Given the description of an element on the screen output the (x, y) to click on. 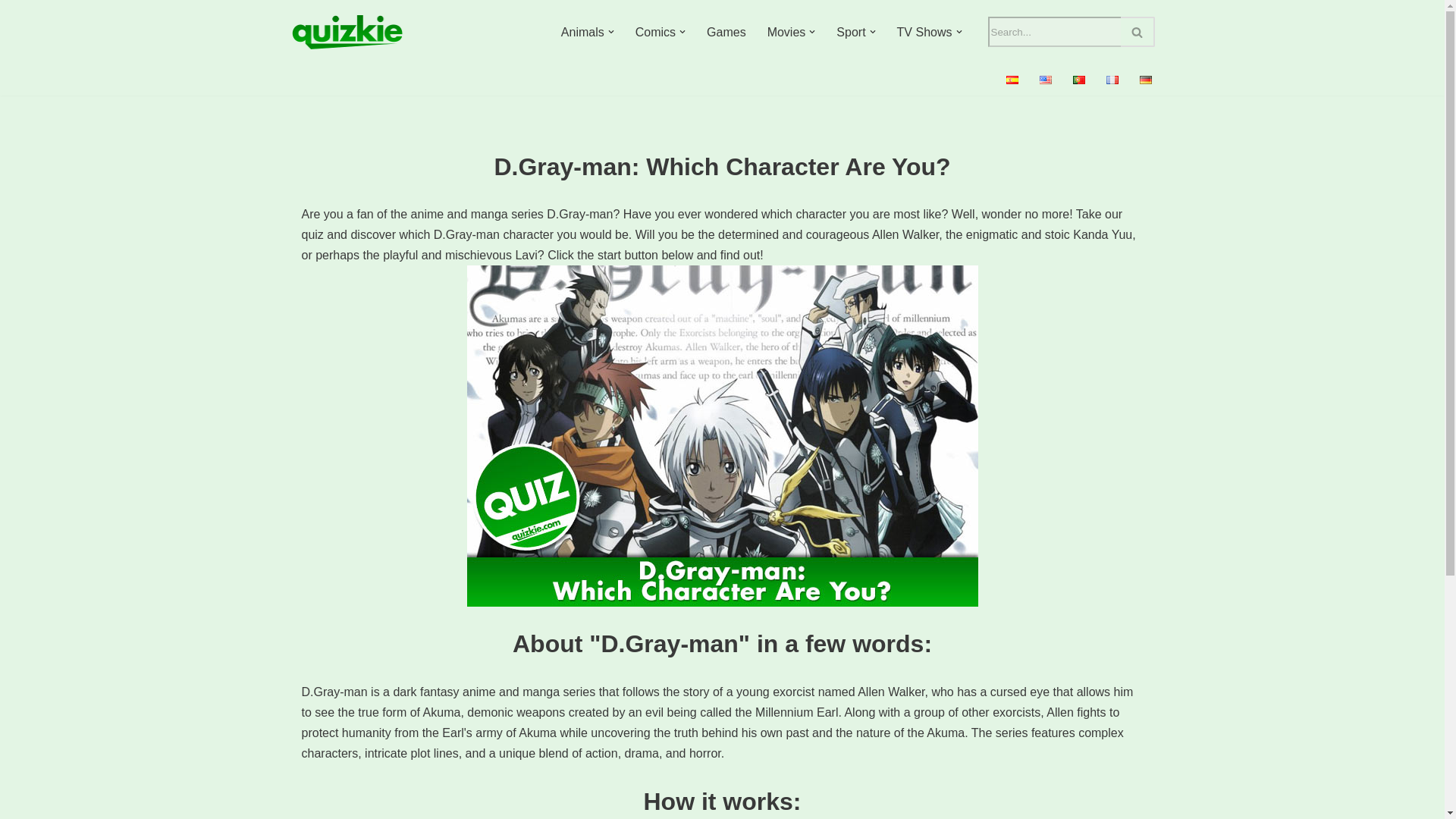
TV Shows (924, 32)
Comics (654, 32)
Games (725, 32)
Sport (849, 32)
Animals (582, 32)
Skip to content (11, 31)
Movies (786, 32)
